Given the description of an element on the screen output the (x, y) to click on. 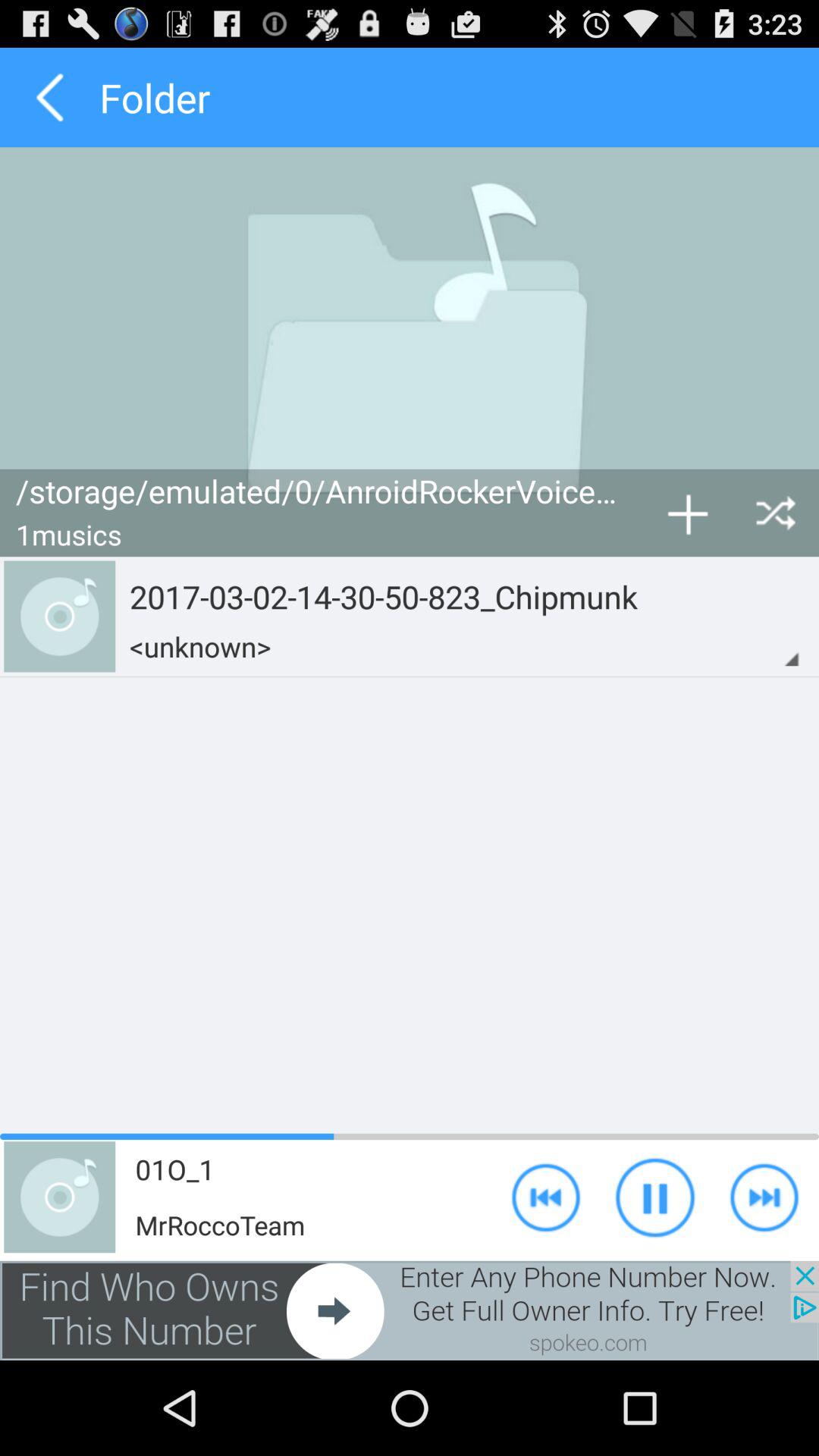
go to previous (49, 97)
